Given the description of an element on the screen output the (x, y) to click on. 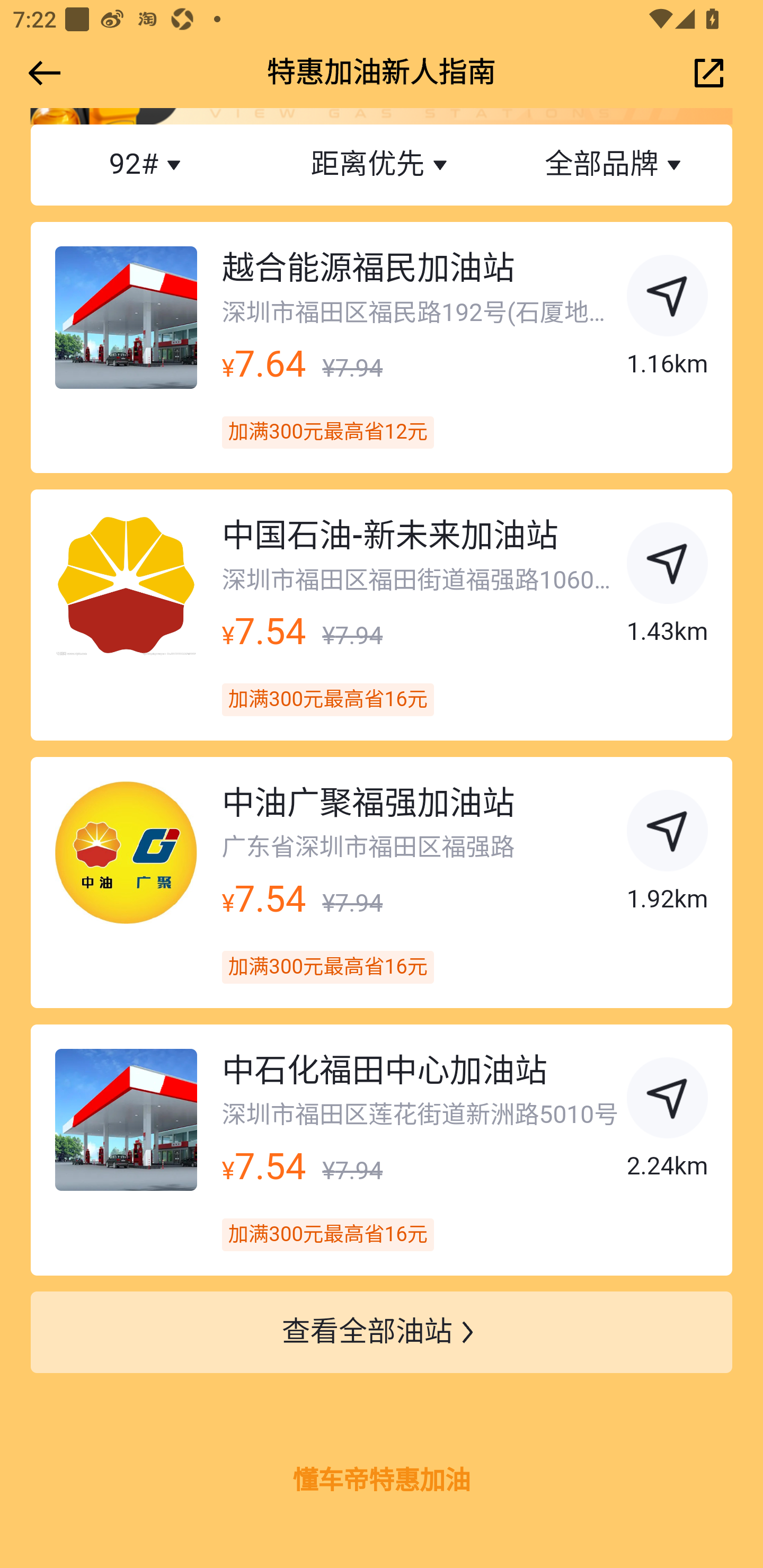
 (41, 72)
特惠加油新人指南 (381, 73)
92# (147, 164)
距离优先 (381, 164)
全部品牌 (614, 164)
ba197686b7094d8888a43cd739b47287~noop (667, 298)
ba197686b7094d8888a43cd739b47287~noop (667, 566)
ba197686b7094d8888a43cd739b47287~noop (667, 834)
ba197686b7094d8888a43cd739b47287~noop (667, 1101)
查看全部油站 (381, 1333)
